Given the description of an element on the screen output the (x, y) to click on. 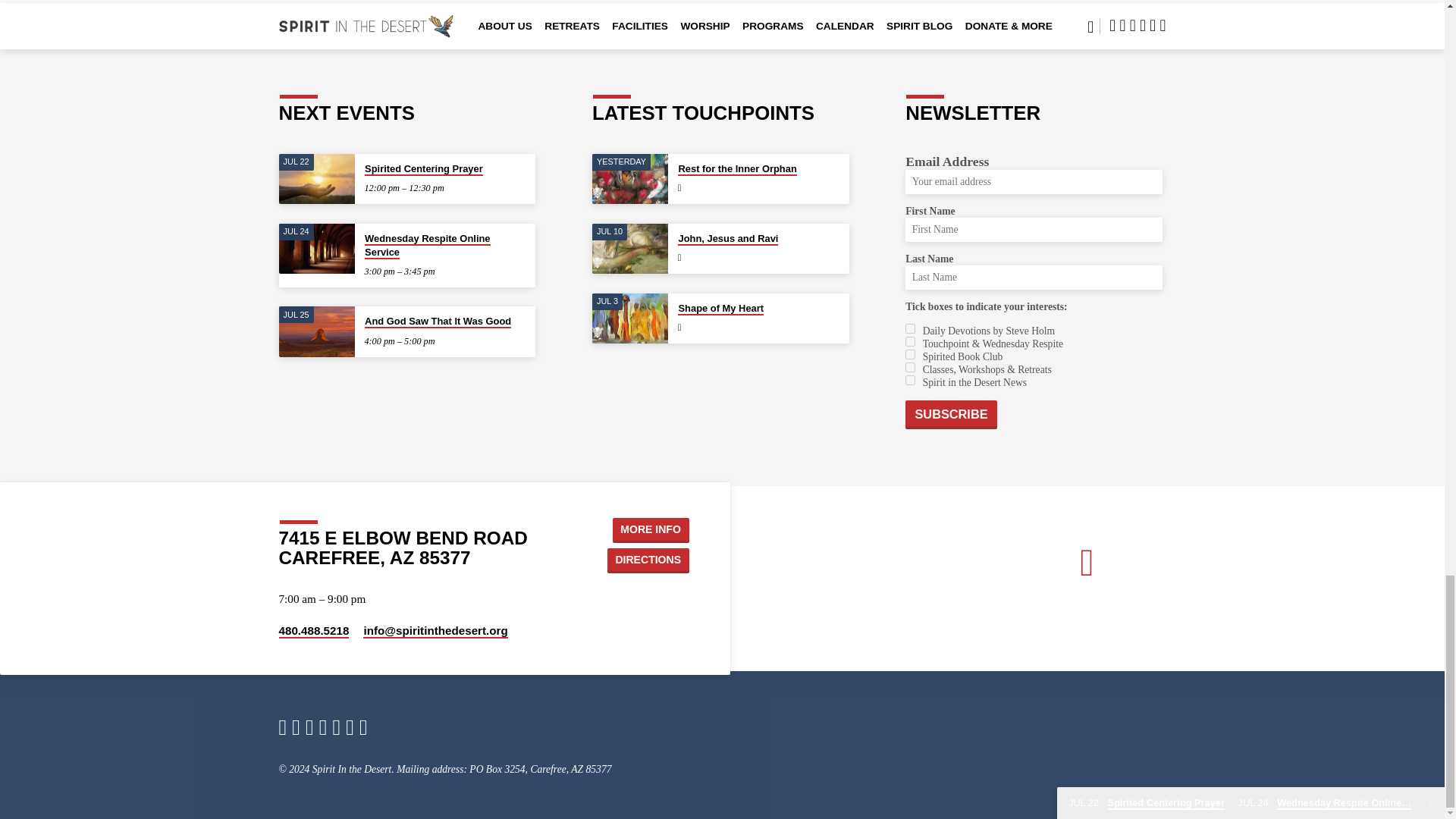
Subscribe (951, 414)
e15f548fa0 (910, 367)
Wednesday Respite Online Service (317, 248)
451e56ae58 (910, 354)
Spirited Centering Prayer (424, 169)
Wednesday Respite Online Service (427, 245)
db06863268 (910, 379)
44e0e54a7c (910, 341)
Spirited Centering Prayer (317, 178)
f19ab91031 (910, 328)
